Given the description of an element on the screen output the (x, y) to click on. 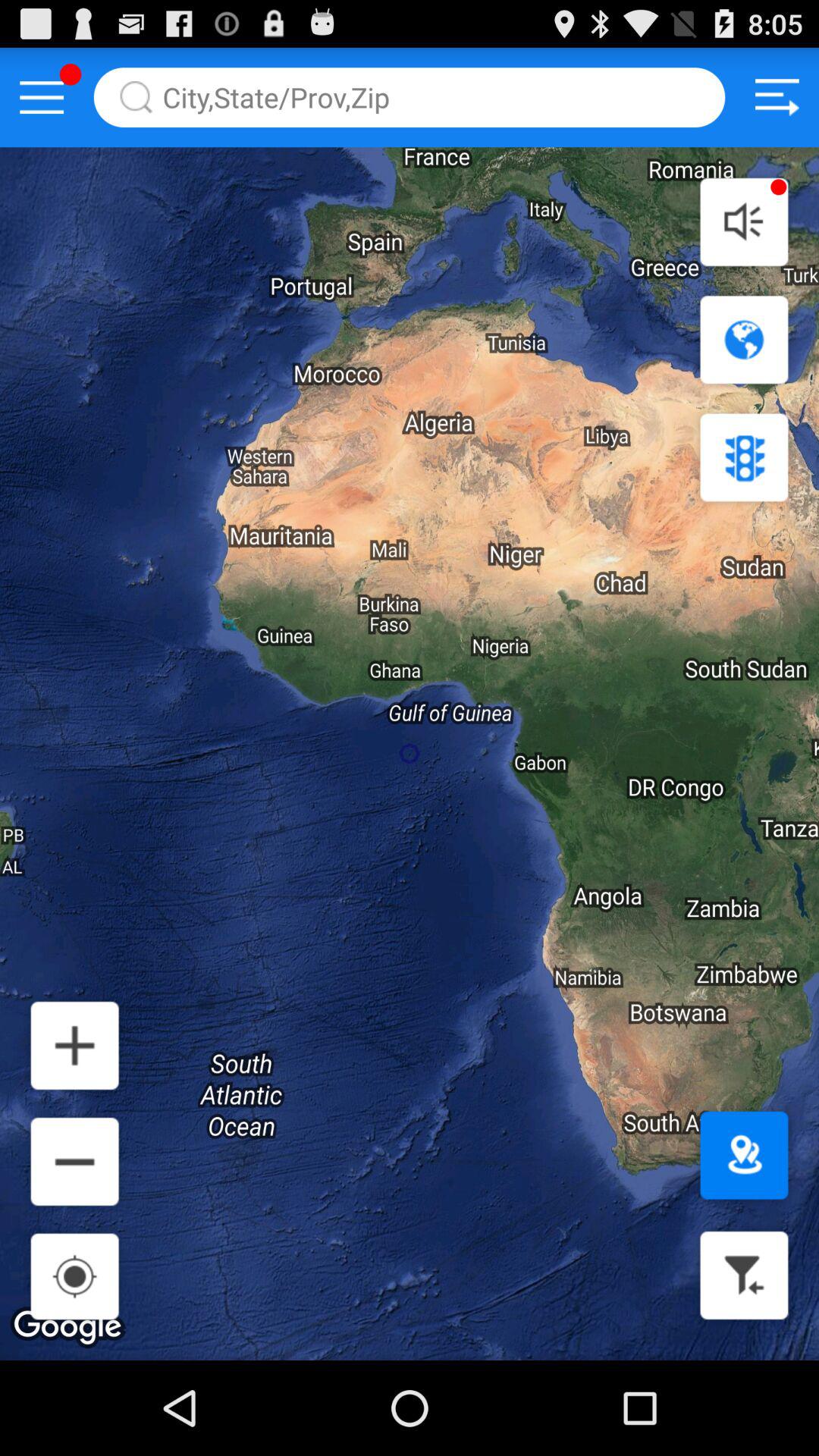
zoom off (74, 1161)
